Given the description of an element on the screen output the (x, y) to click on. 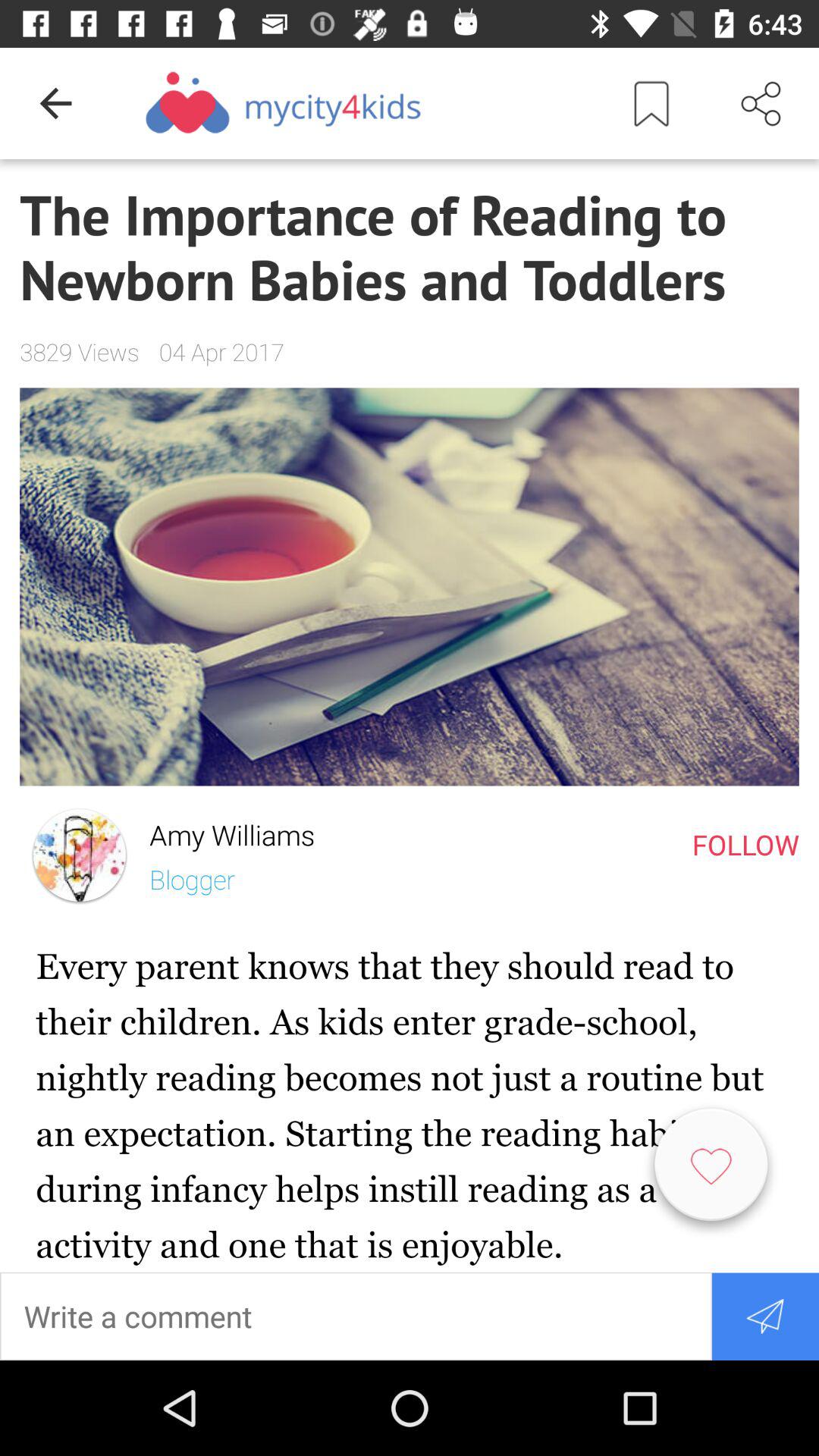
add comment (356, 1316)
